Given the description of an element on the screen output the (x, y) to click on. 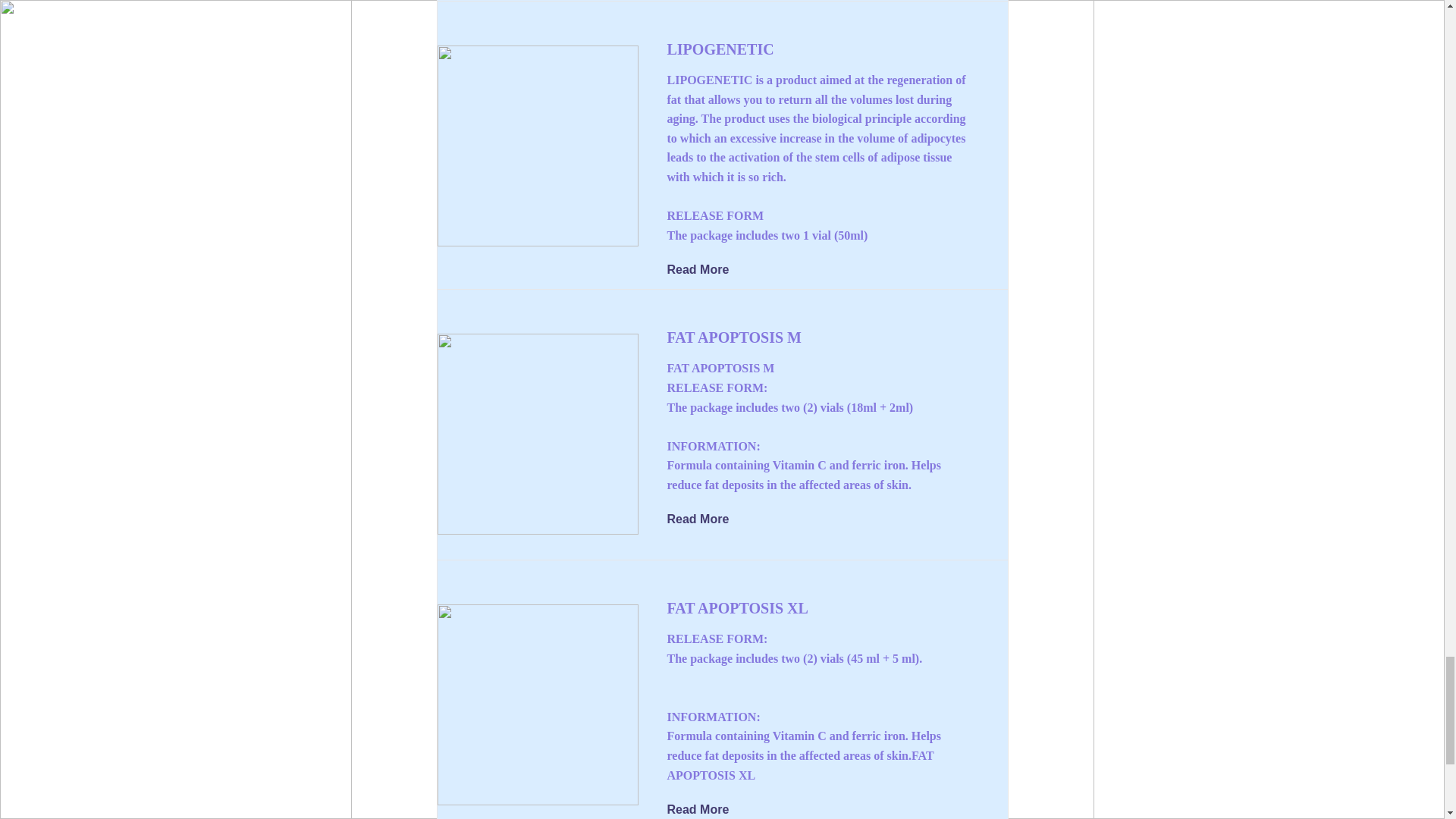
Read More (707, 519)
fat-apoptosis-XL.png (536, 704)
lipogenetinc.png (536, 145)
fat-apoptosis-M.png (536, 433)
Read More (707, 269)
Read More (707, 808)
